Given the description of an element on the screen output the (x, y) to click on. 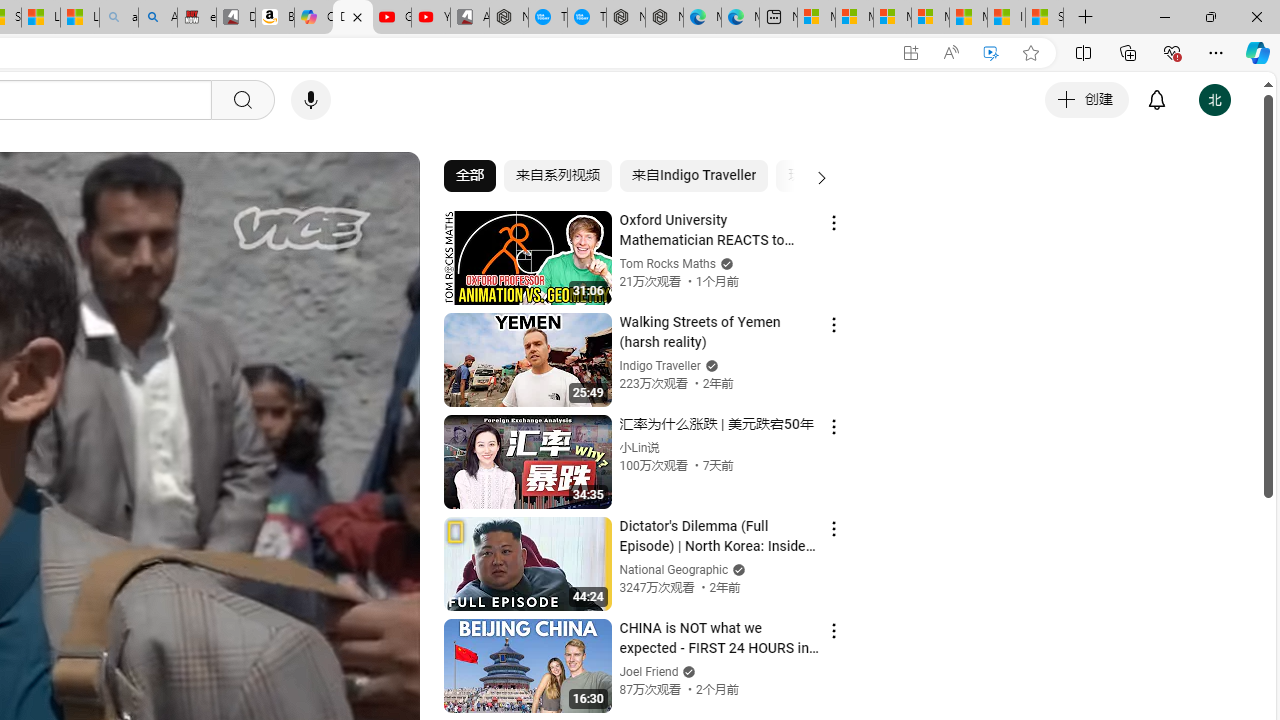
Enhance video (991, 53)
Amazon Echo Dot PNG - Search Images (157, 17)
Nordace - Nordace has arrived Hong Kong (664, 17)
